Given the description of an element on the screen output the (x, y) to click on. 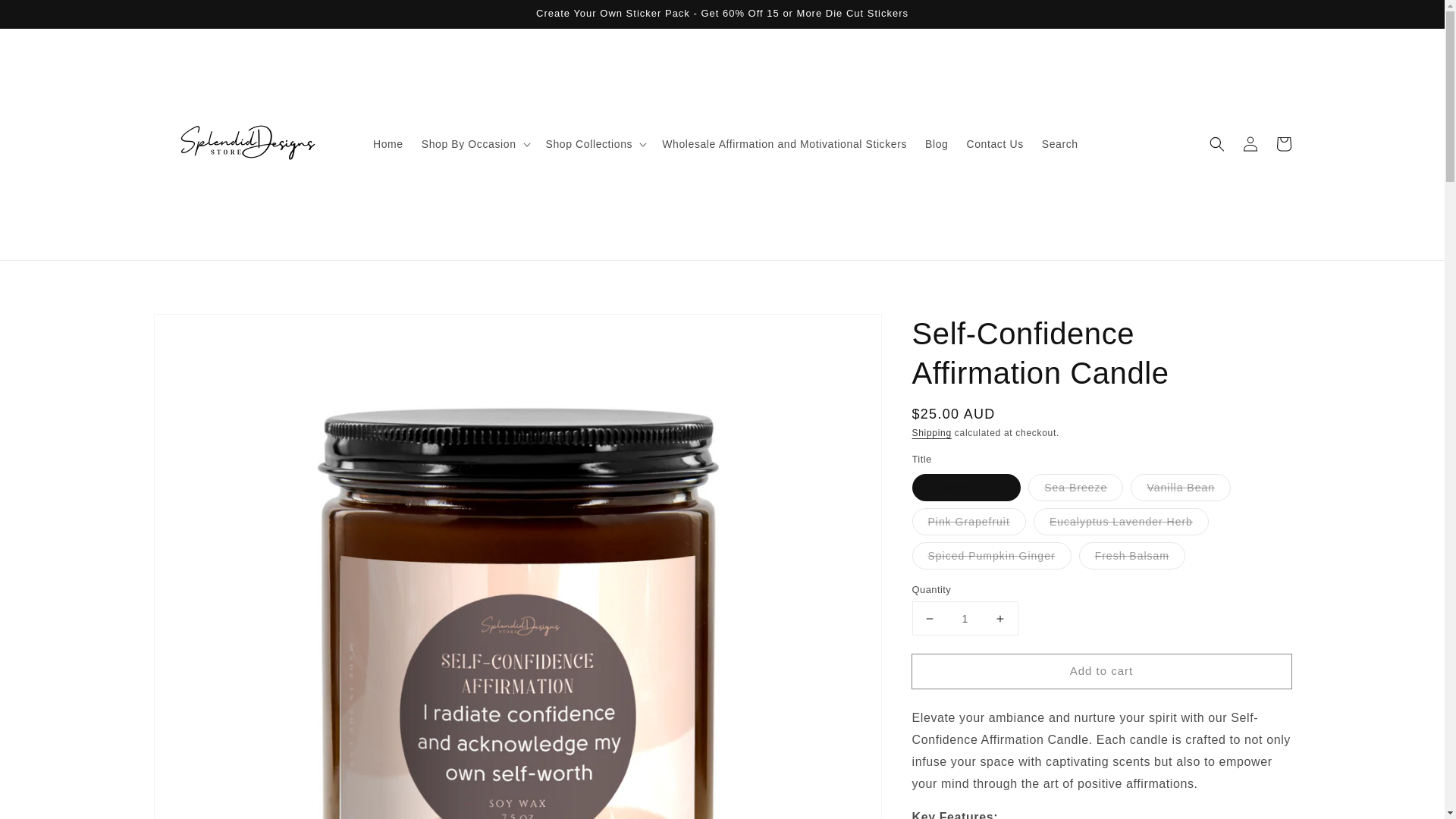
Skip to content (45, 16)
1 (964, 617)
